Given the description of an element on the screen output the (x, y) to click on. 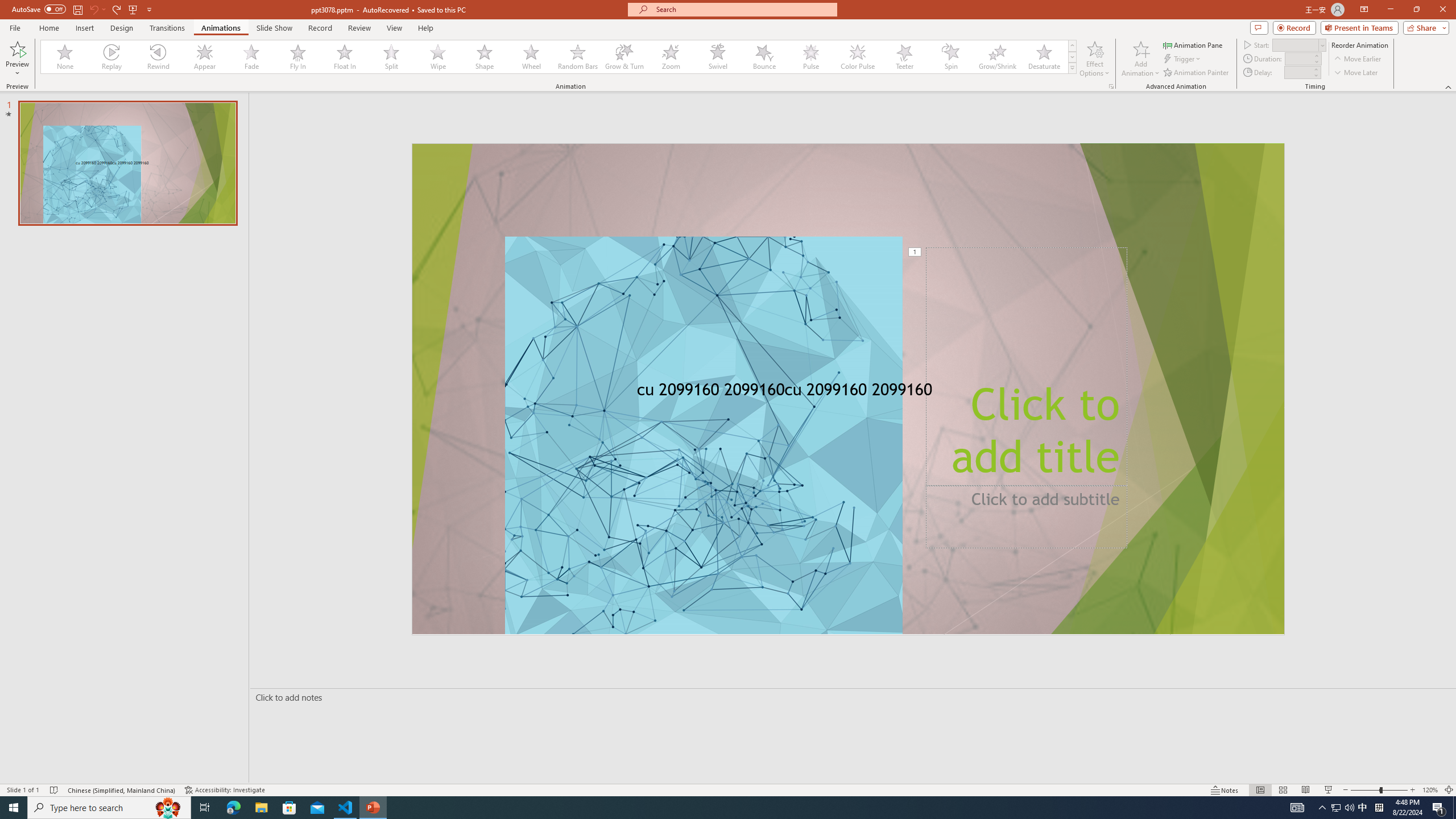
Appear (205, 56)
Bounce (764, 56)
AutomationID: AnimationGallery (558, 56)
Grow/Shrink (997, 56)
Grow & Turn (624, 56)
